Given the description of an element on the screen output the (x, y) to click on. 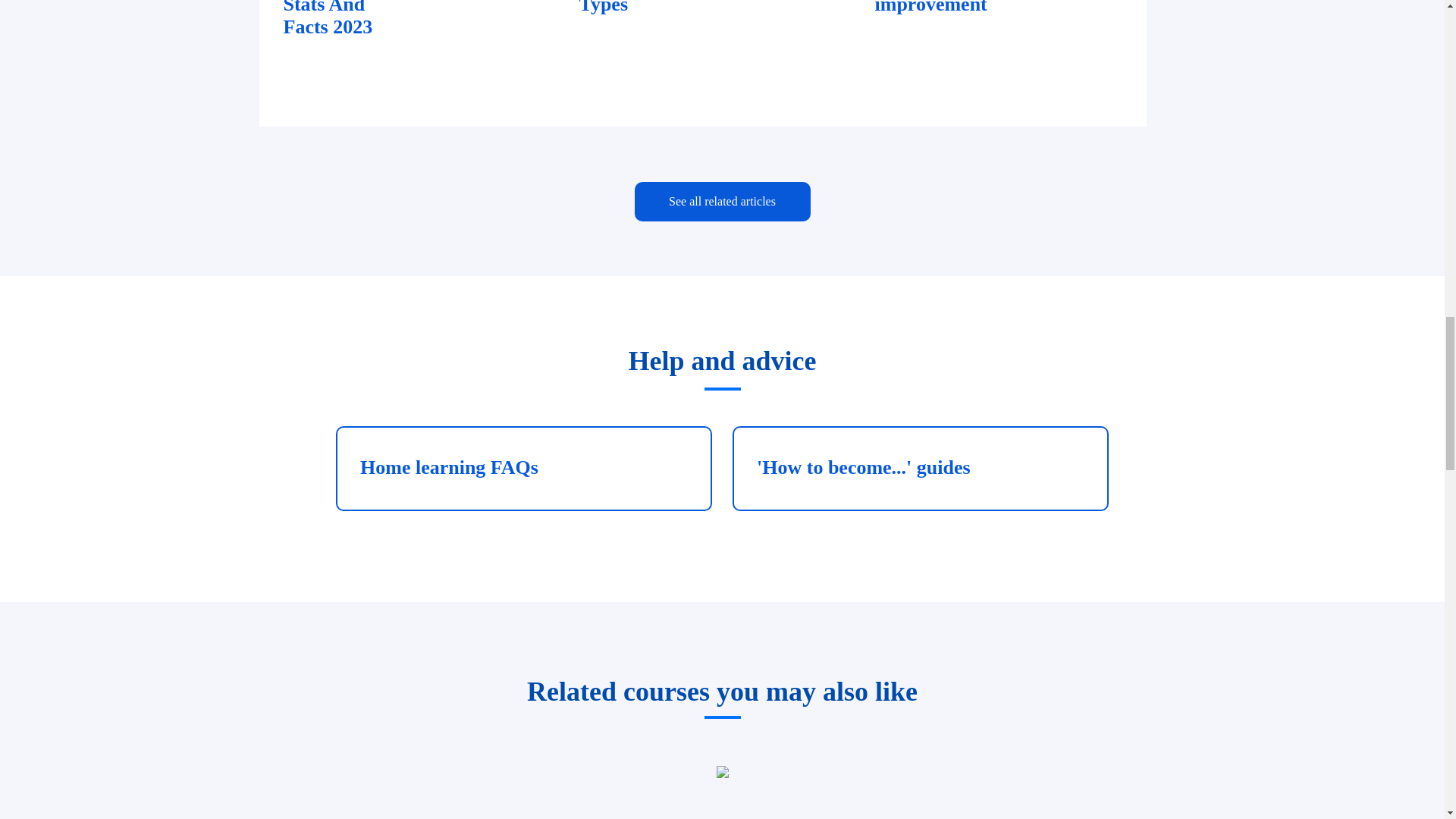
'How to become...' guides (701, 63)
See all related articles (920, 468)
Home learning FAQs (721, 201)
